Given the description of an element on the screen output the (x, y) to click on. 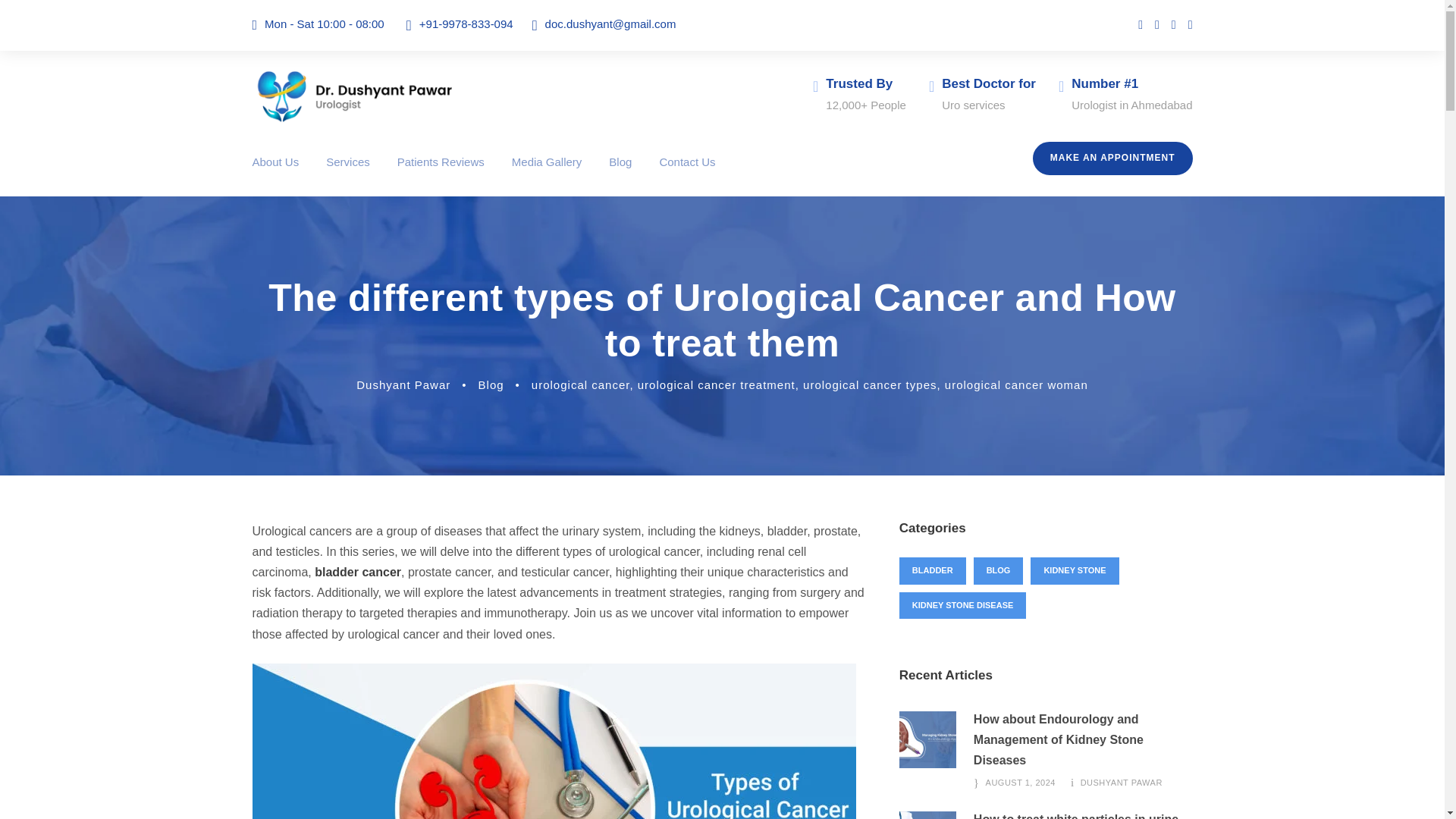
MAKE AN APPOINTMENT (1112, 158)
Posts by Dushyant Pawar (402, 384)
Patients Reviews (440, 174)
Dr. Pawar Logo (354, 96)
About Us (274, 174)
Media Gallery (547, 174)
Contact Us (686, 174)
Services (347, 174)
